Given the description of an element on the screen output the (x, y) to click on. 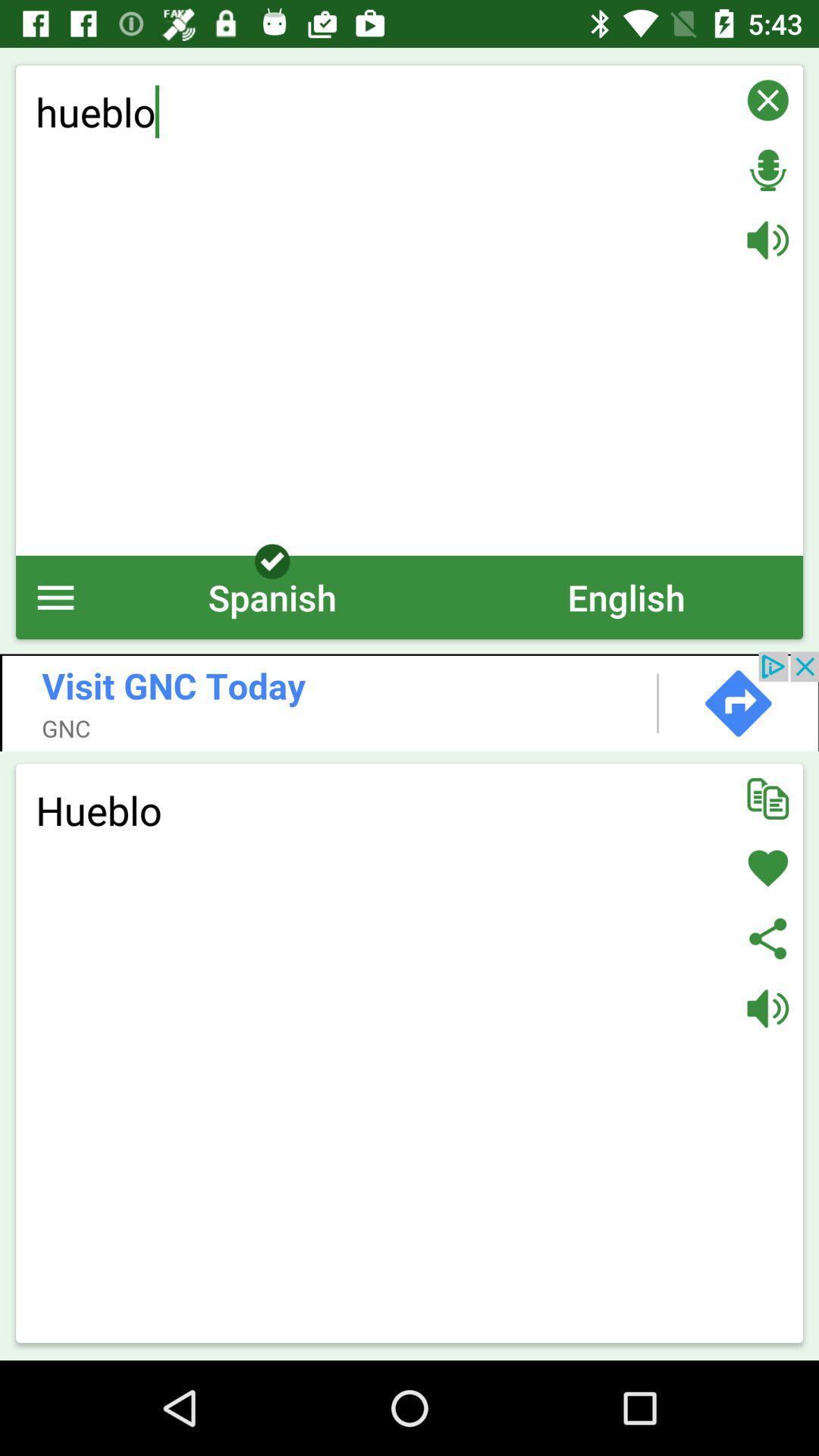
favourite page (768, 868)
